Given the description of an element on the screen output the (x, y) to click on. 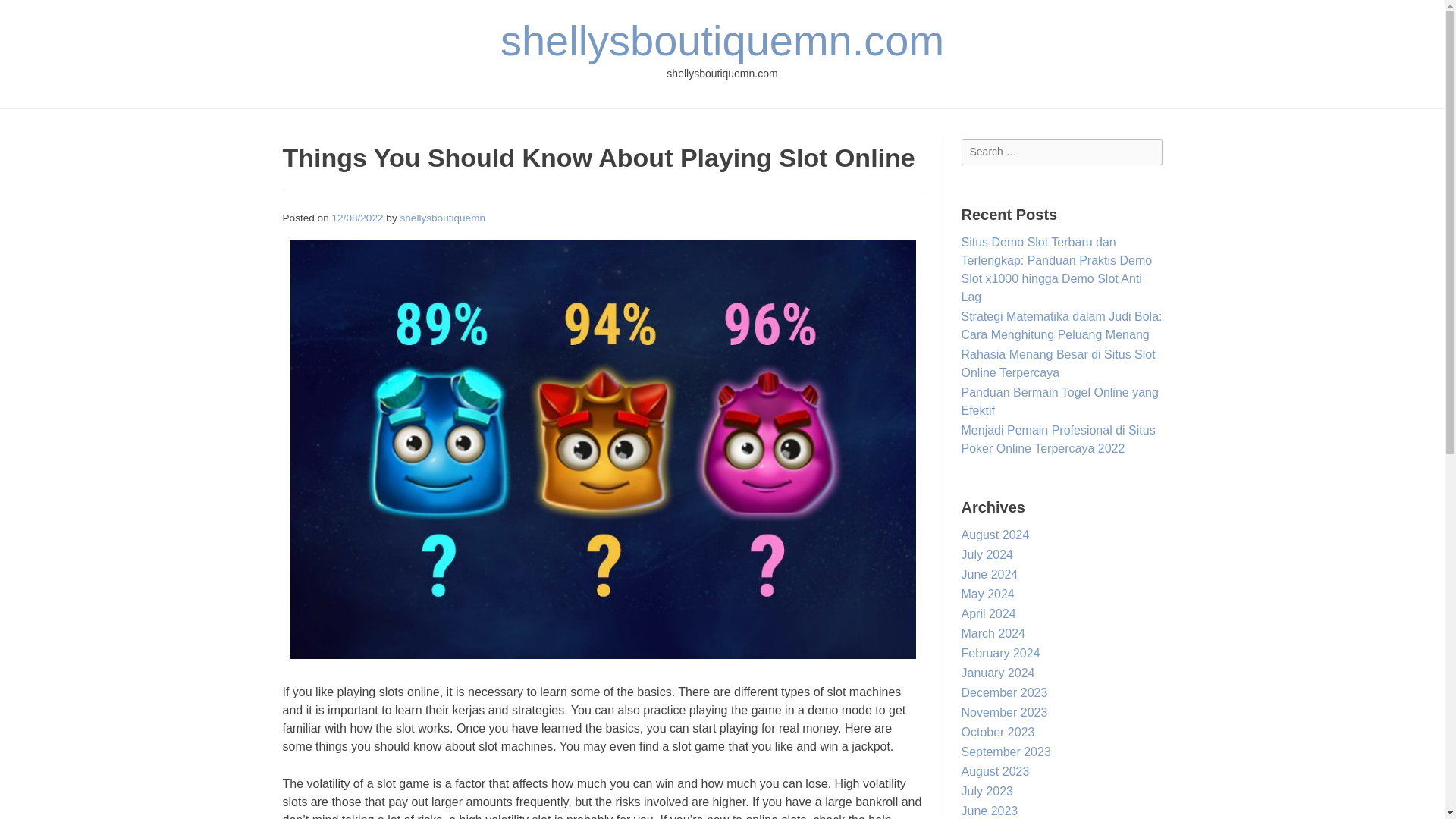
July 2024 (986, 554)
September 2023 (1005, 751)
October 2023 (997, 731)
February 2024 (1000, 653)
Search (27, 13)
August 2023 (994, 771)
December 2023 (1004, 692)
Panduan Bermain Togel Online yang Efektif (1059, 400)
shellysboutiquemn (441, 217)
August 2024 (994, 534)
shellysboutiquemn.com (721, 40)
January 2024 (997, 672)
November 2023 (1004, 712)
May 2024 (987, 594)
